Given the description of an element on the screen output the (x, y) to click on. 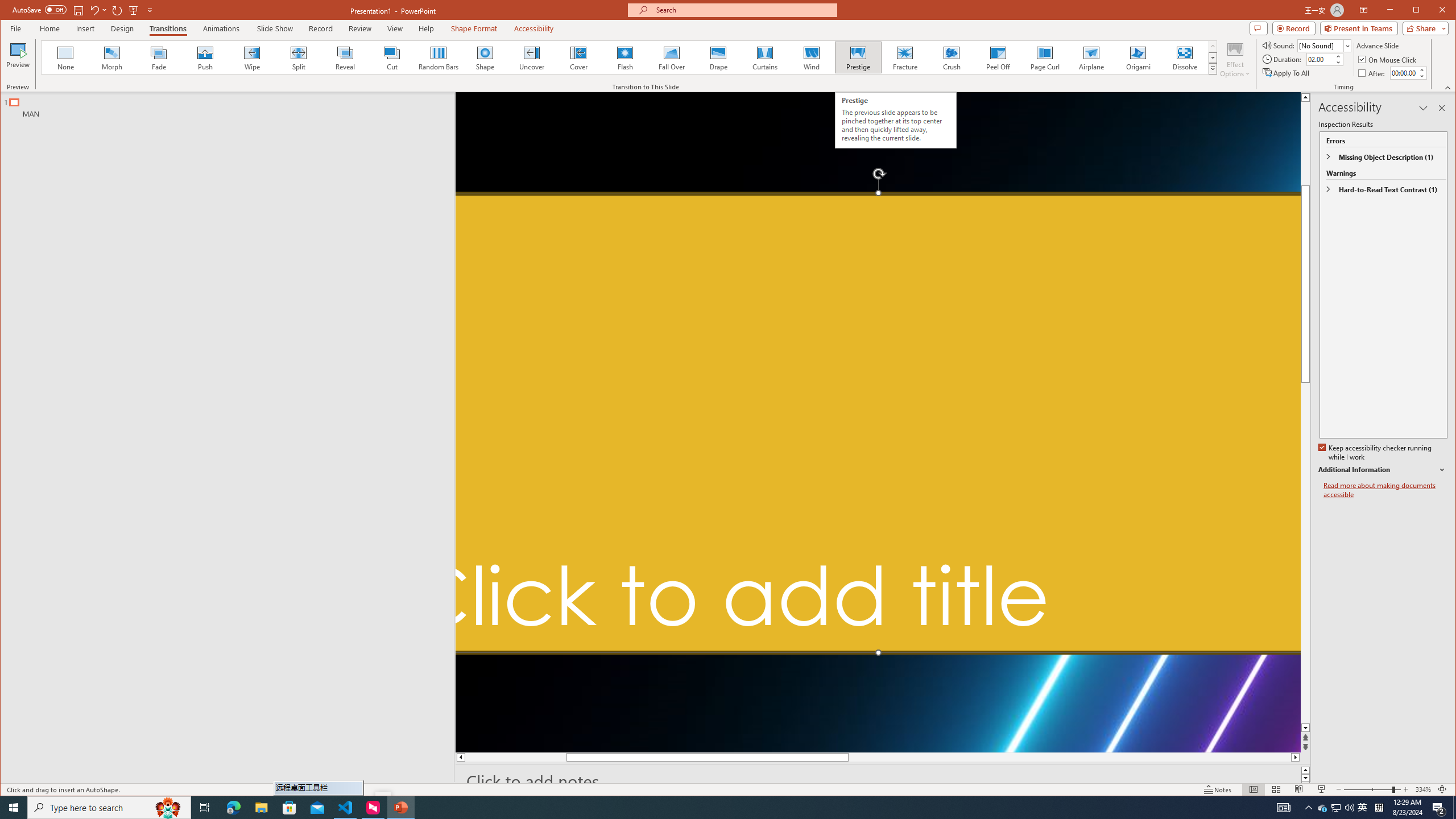
Crush (951, 57)
Cover (577, 57)
Uncover (531, 57)
Drape (717, 57)
